Given the description of an element on the screen output the (x, y) to click on. 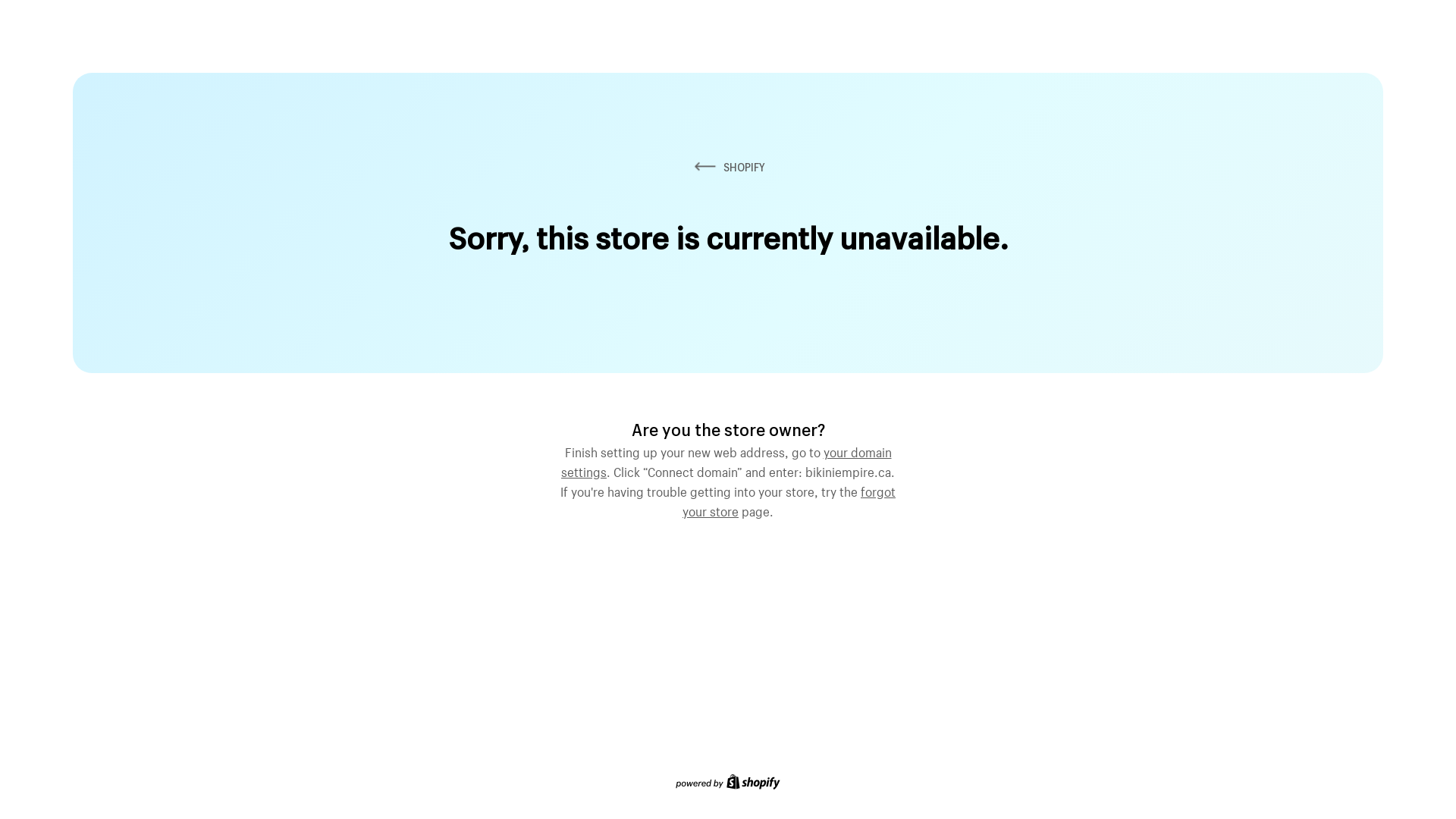
SHOPIFY Element type: text (727, 167)
forgot your store Element type: text (788, 499)
your domain settings Element type: text (726, 460)
